Given the description of an element on the screen output the (x, y) to click on. 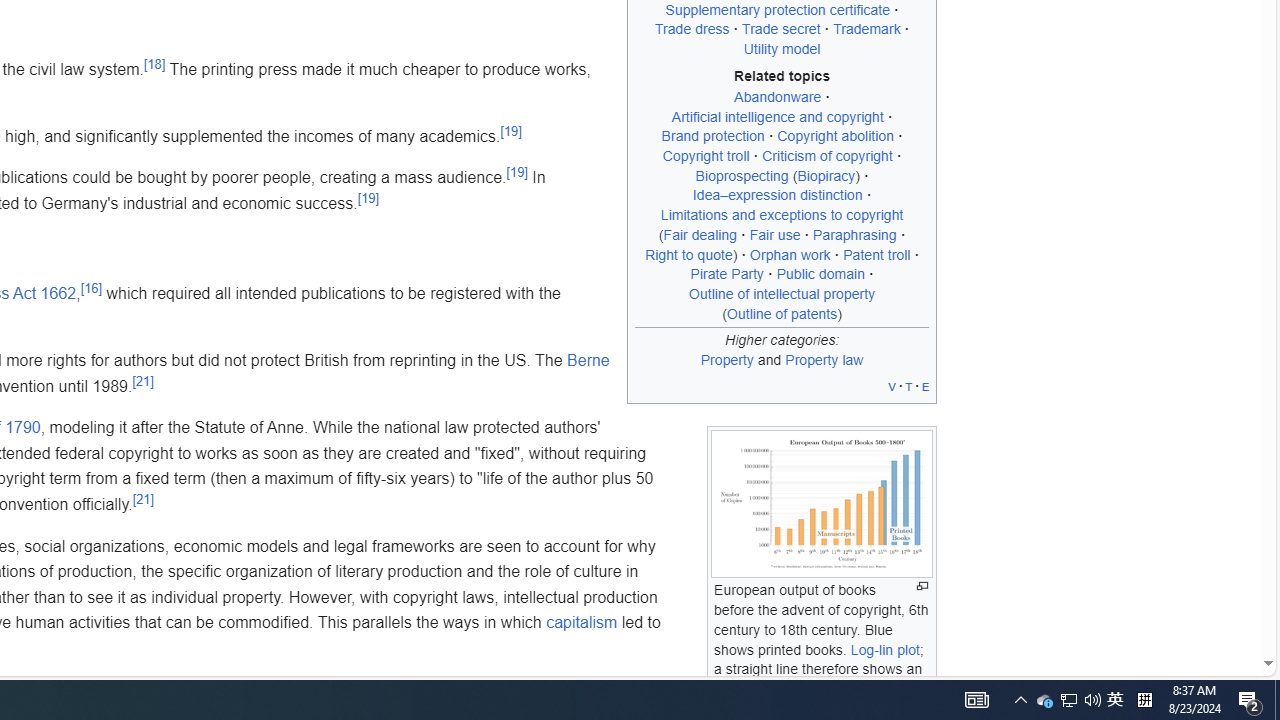
Orphan work (790, 254)
Criticism of copyright (827, 156)
Outline of patents (781, 313)
Fair use (774, 234)
Fair dealing (700, 234)
Pirate Party (727, 273)
[16] (90, 287)
Paraphrasing (854, 234)
Biopiracy (826, 175)
